Given the description of an element on the screen output the (x, y) to click on. 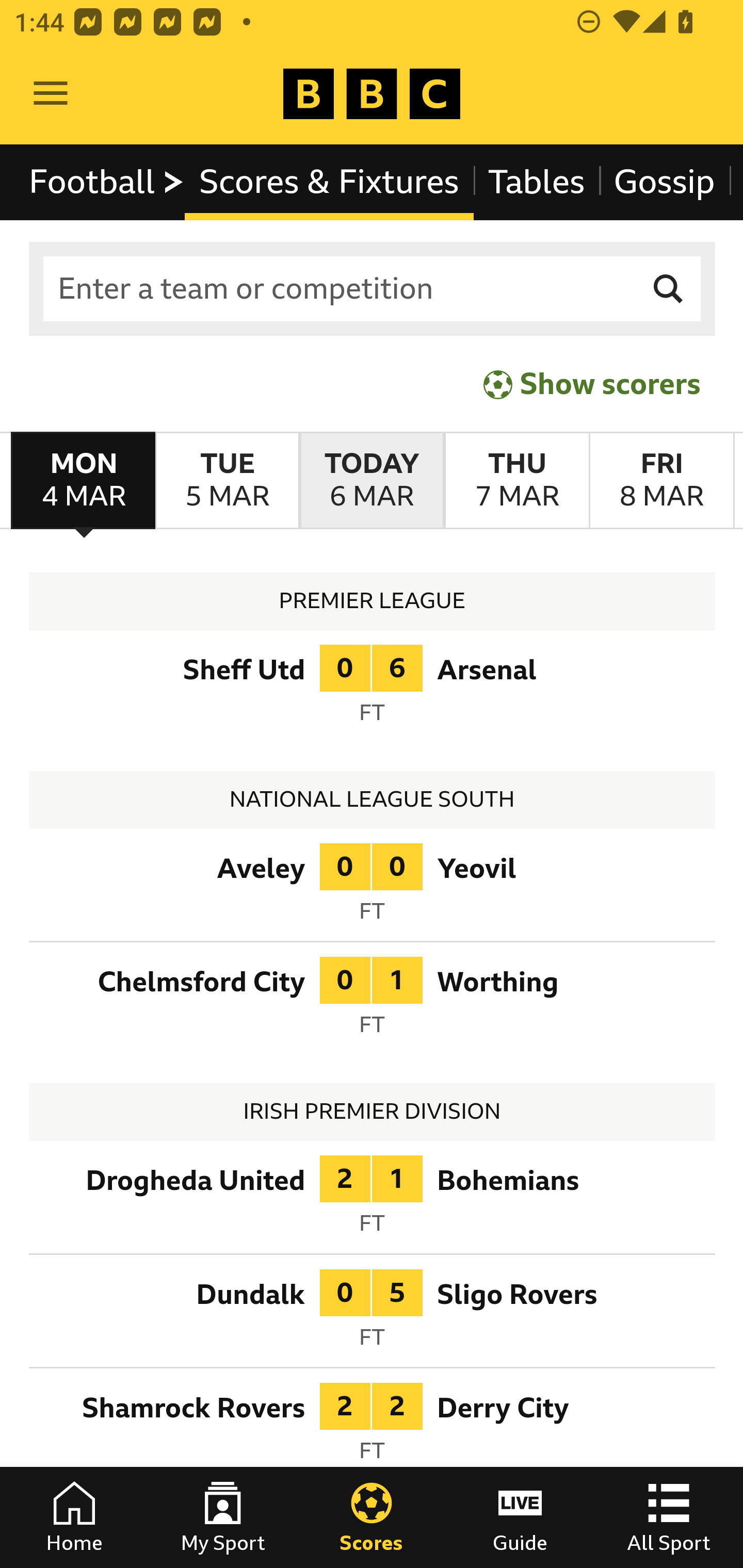
Open Menu (50, 93)
Football  (106, 181)
Scores & Fixtures (329, 181)
Tables (536, 181)
Gossip (664, 181)
Search (669, 289)
Show scorers (591, 383)
TuesdayMarch 5th Tuesday March 5th (227, 480)
TodayMarch 6th Today March 6th (371, 480)
ThursdayMarch 7th Thursday March 7th (516, 480)
FridayMarch 8th Friday March 8th (661, 480)
68399653 Sheffield United 0 Arsenal 6 Full Time (372, 689)
Home (74, 1517)
My Sport (222, 1517)
Guide (519, 1517)
All Sport (668, 1517)
